Given the description of an element on the screen output the (x, y) to click on. 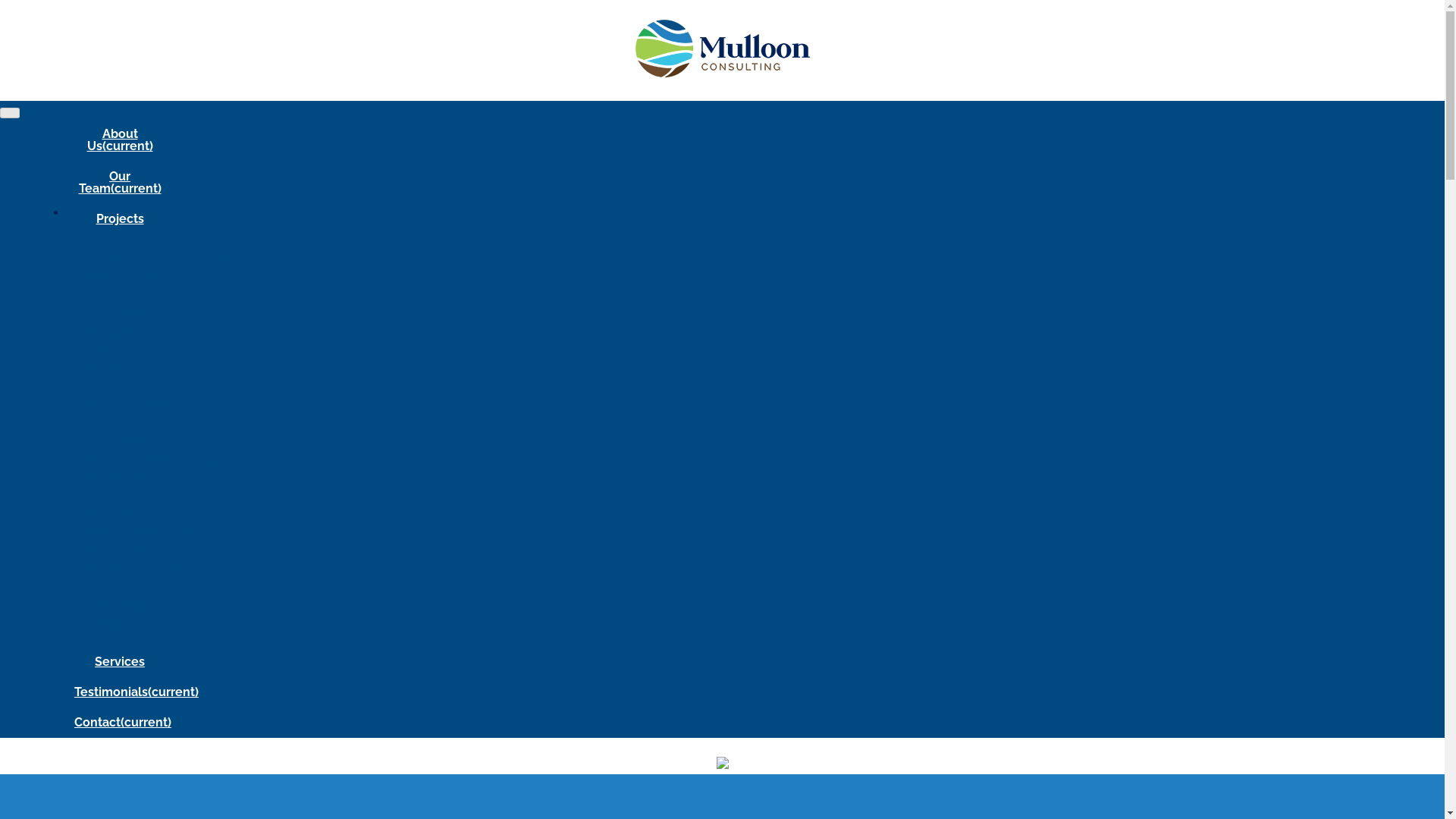
Contact(current) Element type: text (122, 722)
Testimonials(current) Element type: text (136, 692)
About Us(current) Element type: text (119, 140)
Projects Element type: text (119, 218)
Our Team(current) Element type: text (119, 182)
Mt Pleasant Demonstration & Learning Hub Element type: text (152, 576)
Services Element type: text (119, 661)
Turnip Creek Element type: text (159, 267)
Wombramurra Element type: text (137, 258)
SixTrees Element type: text (163, 531)
